Given the description of an element on the screen output the (x, y) to click on. 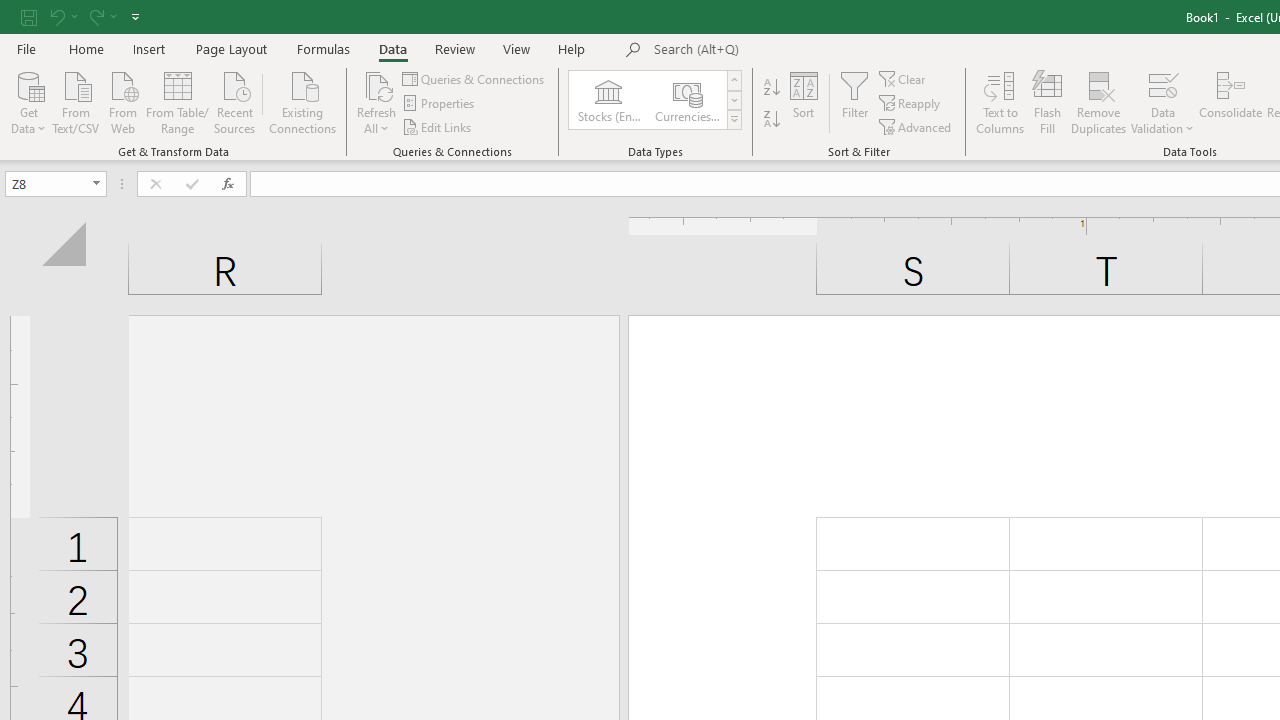
Row Down (734, 100)
Advanced... (916, 126)
From Text/CSV (75, 101)
Sort... (804, 102)
Sort Z to A (772, 119)
Existing Connections (303, 101)
Data Validation... (1162, 84)
Sort A to Z (772, 87)
